Given the description of an element on the screen output the (x, y) to click on. 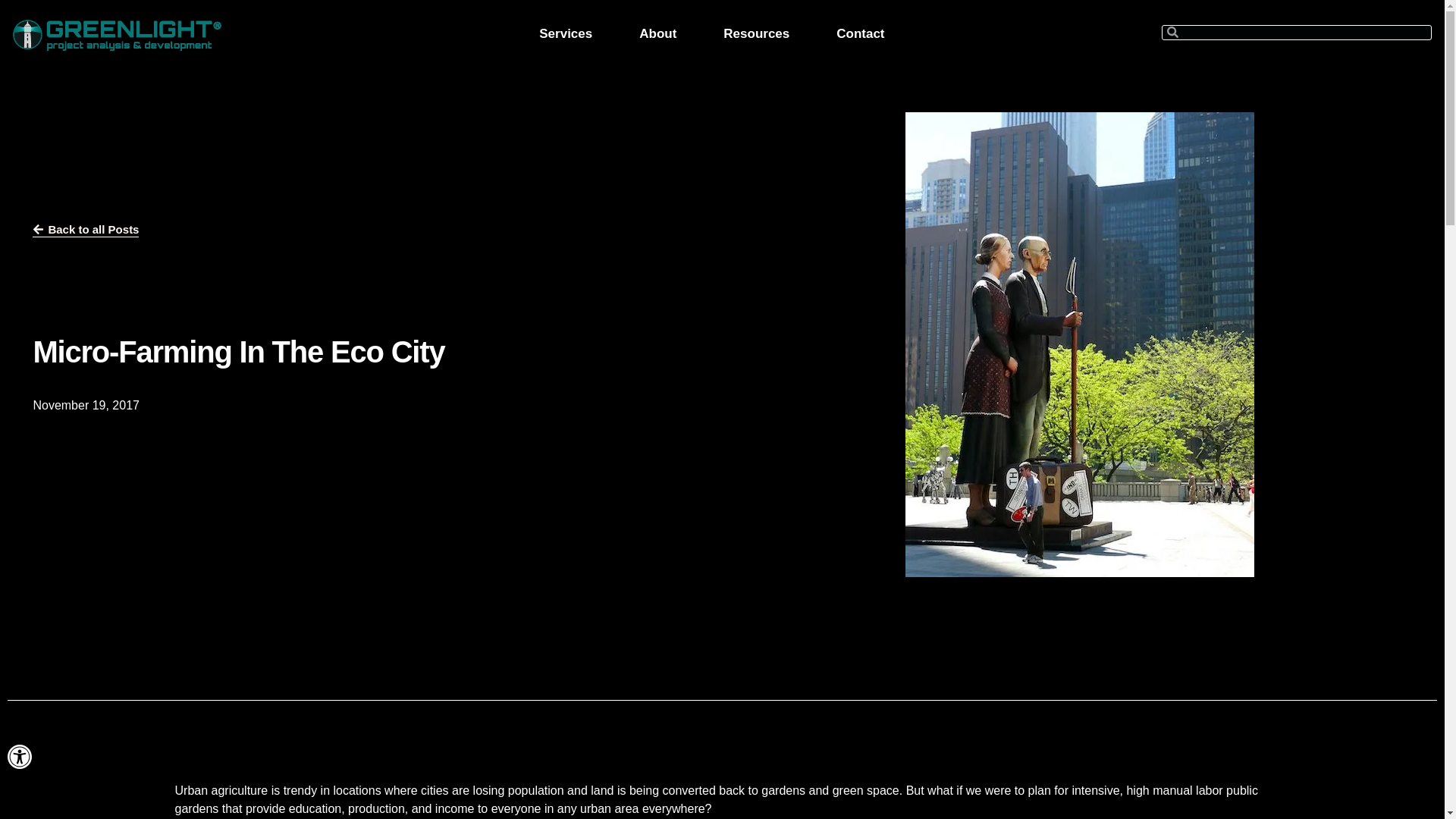
Accessibility Tools (19, 756)
Accessibility Tools (19, 756)
Back to all Posts (85, 230)
About (658, 33)
Contact Richard Vermeulen (859, 33)
Resources (19, 756)
Contact (756, 33)
About Richard Vermeulen (859, 33)
Services (658, 33)
